Given the description of an element on the screen output the (x, y) to click on. 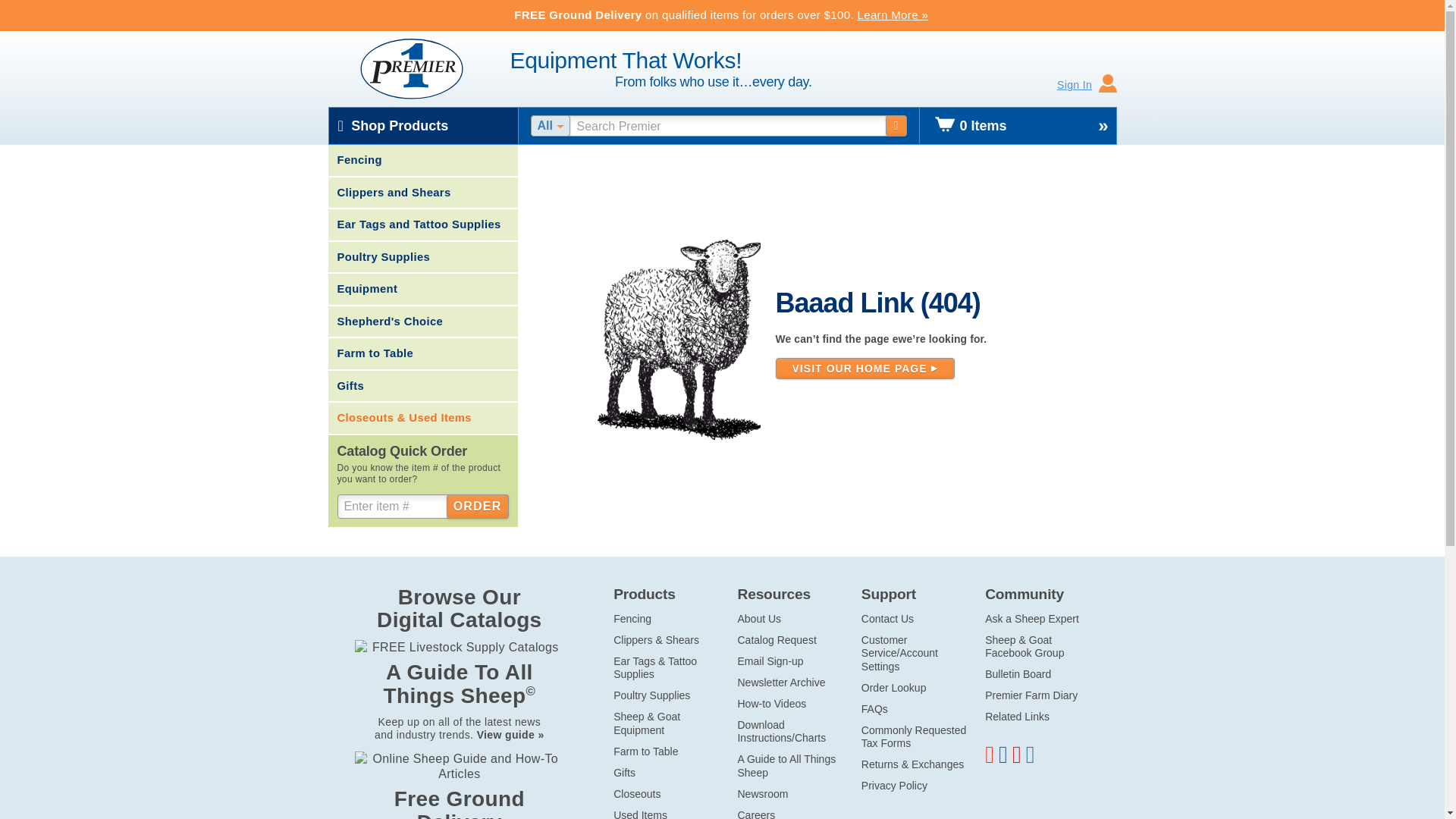
ORDER (477, 506)
Shepherd's Choice (421, 322)
VISIT OUR HOME PAGE (863, 368)
Equipment (421, 289)
Ear Tags and Tattoo Supplies (421, 224)
0 Items (1017, 125)
Gifts (421, 386)
Sign In (1086, 85)
Shop Products (423, 125)
Poultry Supplies (651, 695)
